Given the description of an element on the screen output the (x, y) to click on. 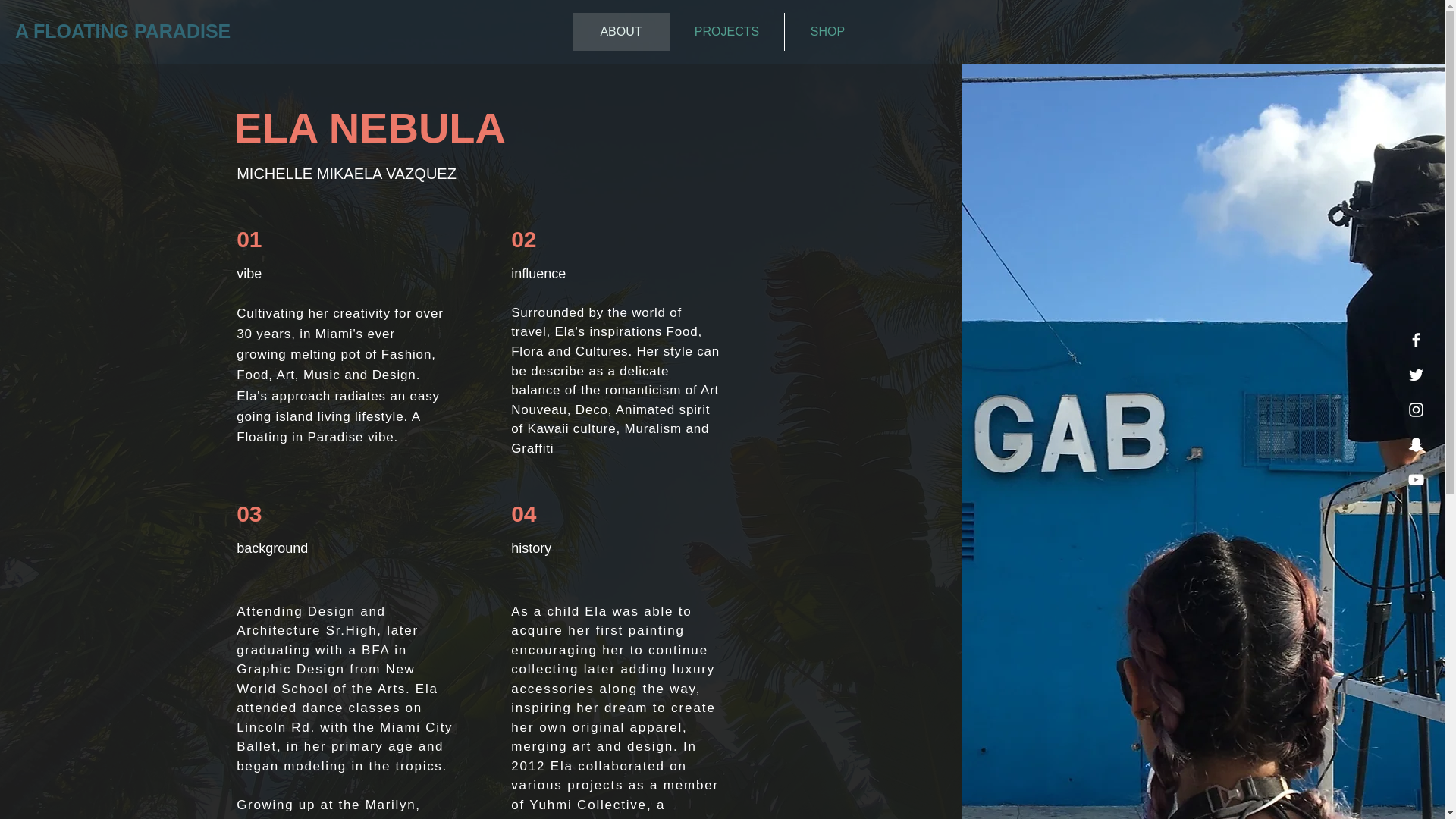
SHOP (827, 31)
PROJECTS (725, 31)
A FLOATING PARADISE (122, 30)
ABOUT (621, 31)
